Given the description of an element on the screen output the (x, y) to click on. 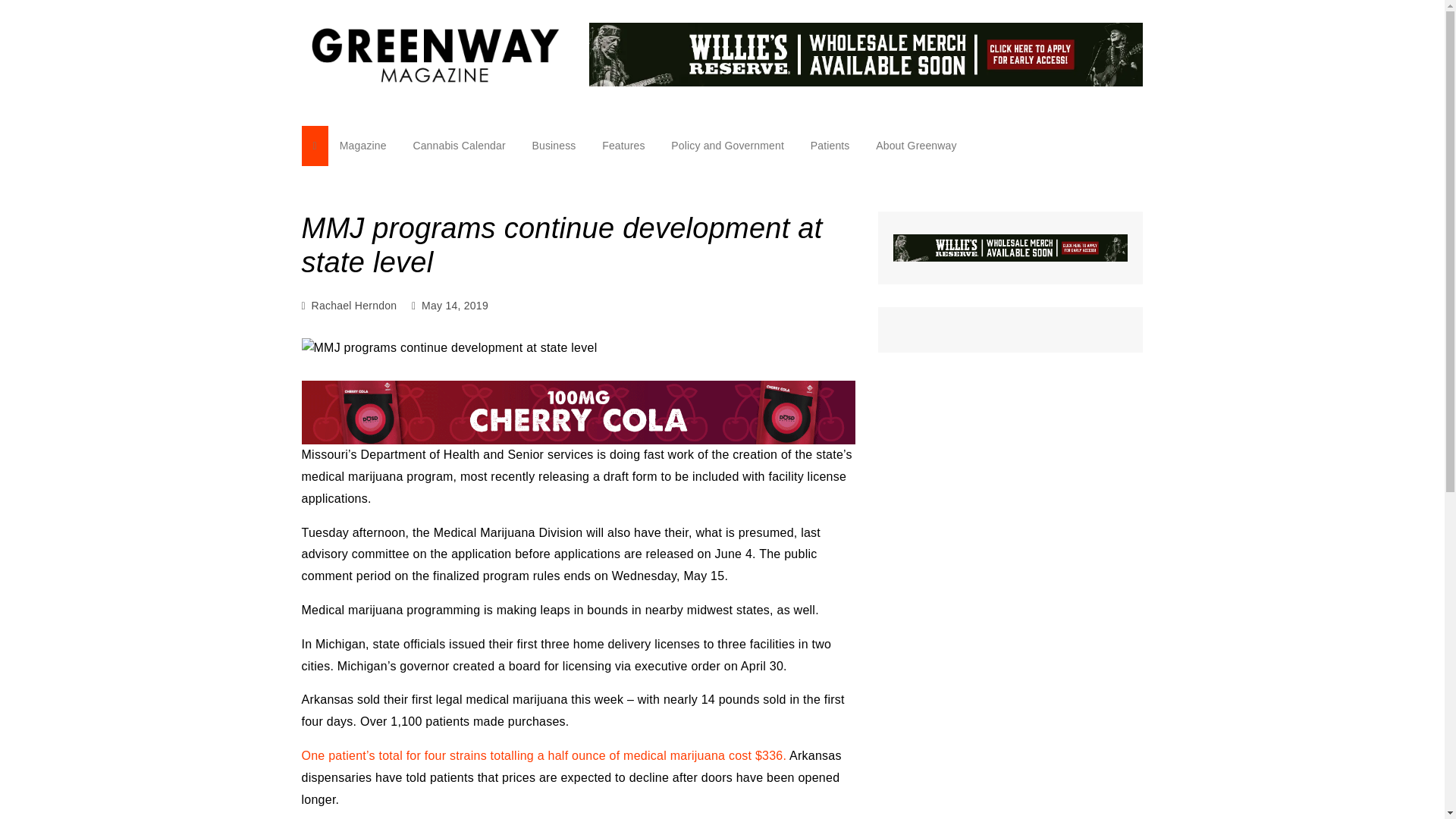
About Greenway (916, 145)
Cannabis Calendar (458, 145)
Rachael Herndon (354, 305)
Business (552, 145)
Magazine (363, 145)
Policy and Government (726, 145)
Patients (830, 145)
May 14, 2019 (454, 305)
Features (623, 145)
